Given the description of an element on the screen output the (x, y) to click on. 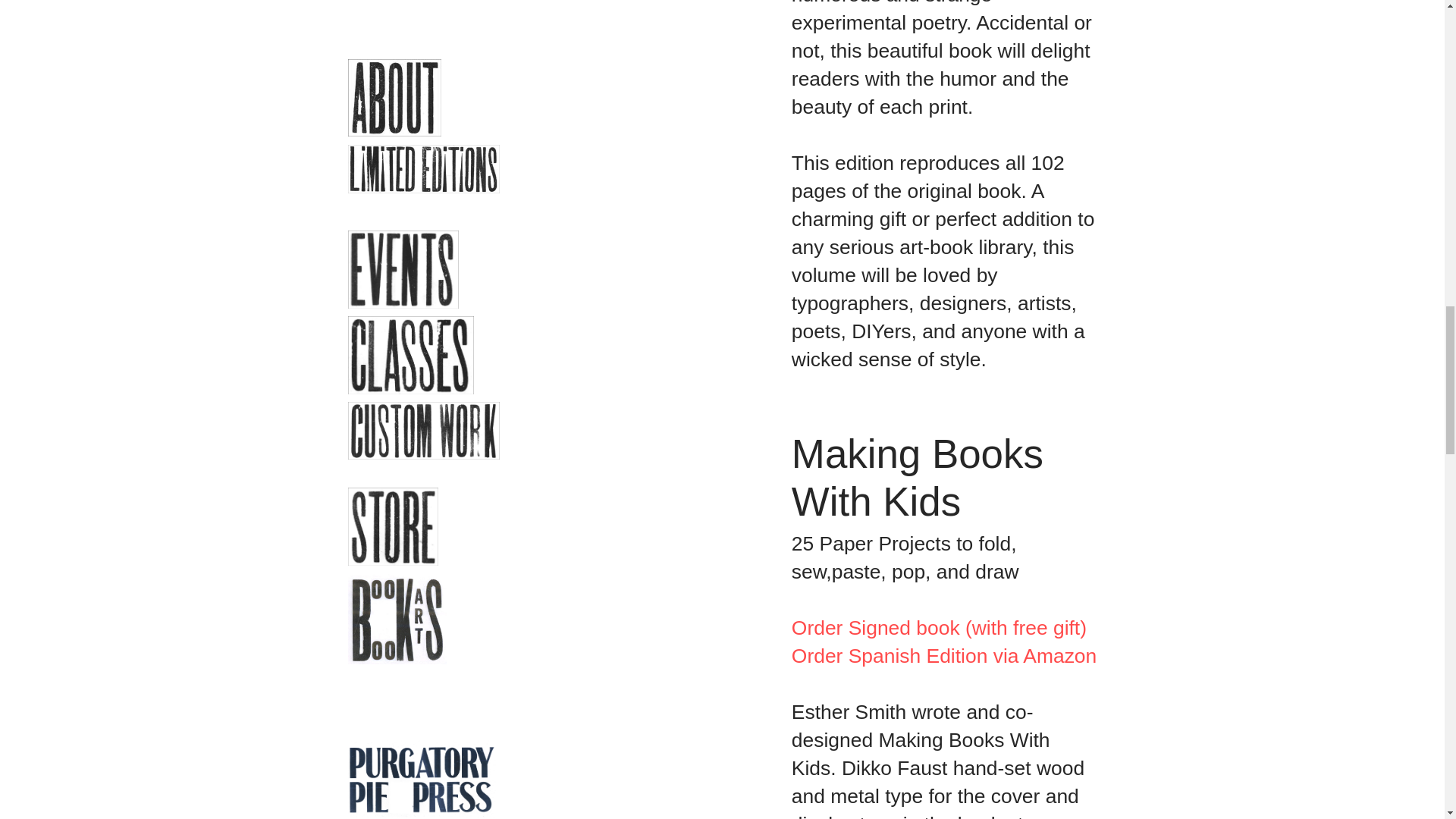
Order Spanish Edition via Amazon (944, 655)
